Given the description of an element on the screen output the (x, y) to click on. 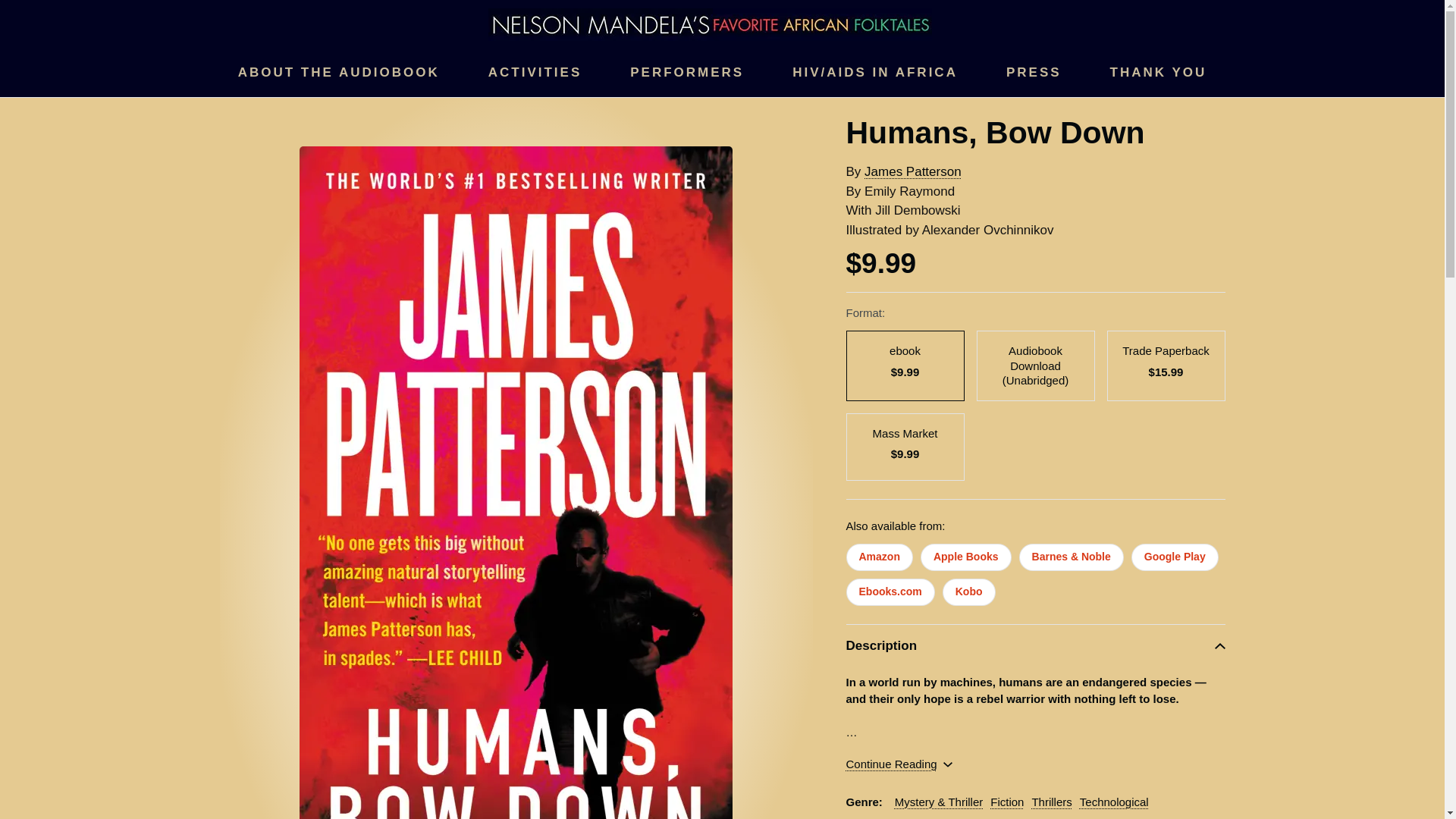
Amazon (878, 556)
ABOUT THE AUDIOBOOK (338, 72)
Ebooks.com (889, 592)
Go to Hachette Book Group home (709, 23)
Fiction (1006, 801)
Thrillers (1050, 801)
THANK YOU (1158, 72)
Description (1035, 645)
Technological (1114, 801)
Apple Books (965, 556)
